Given the description of an element on the screen output the (x, y) to click on. 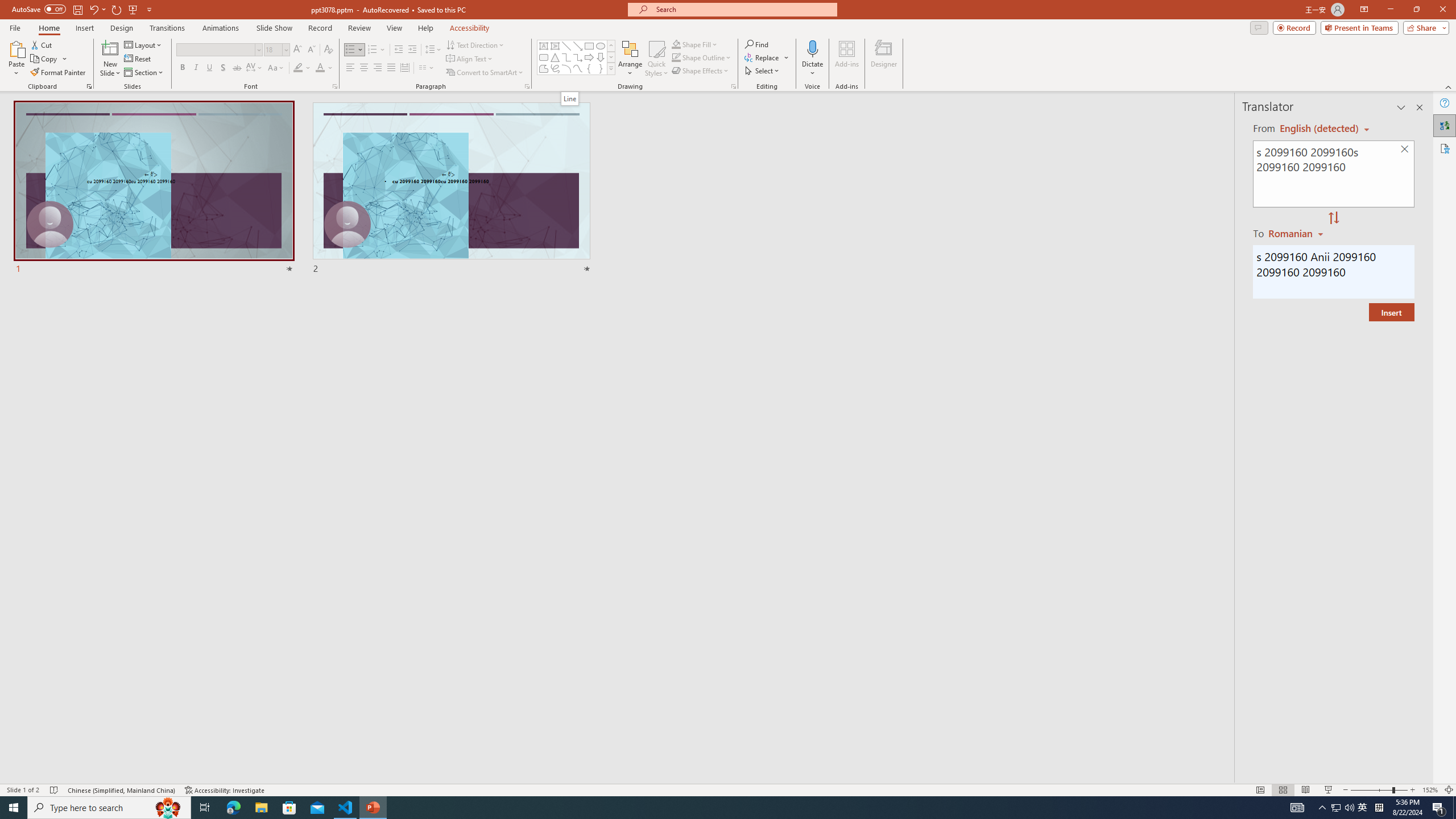
AutomationID: ShapesInsertGallery (576, 57)
Freeform: Shape (543, 68)
Czech (detected) (1319, 128)
Format Object... (733, 85)
Shape Fill (694, 44)
Decrease Indent (398, 49)
